Given the description of an element on the screen output the (x, y) to click on. 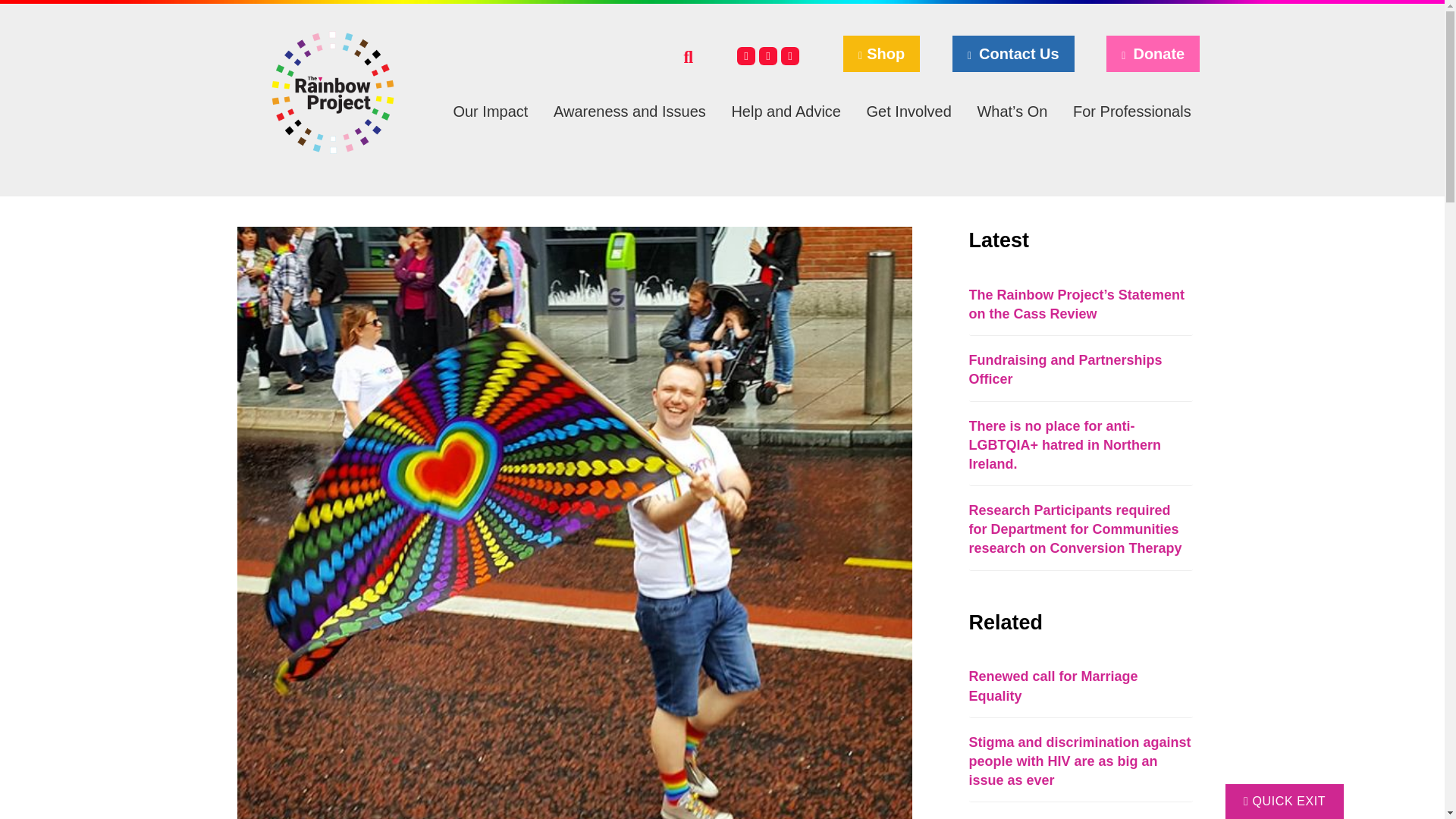
Donate (1152, 54)
Shop (881, 54)
Help and Advice (789, 111)
Awareness and Issues (633, 111)
Contact Us (1013, 54)
Get Involved (912, 111)
Our Impact (494, 111)
